Given the description of an element on the screen output the (x, y) to click on. 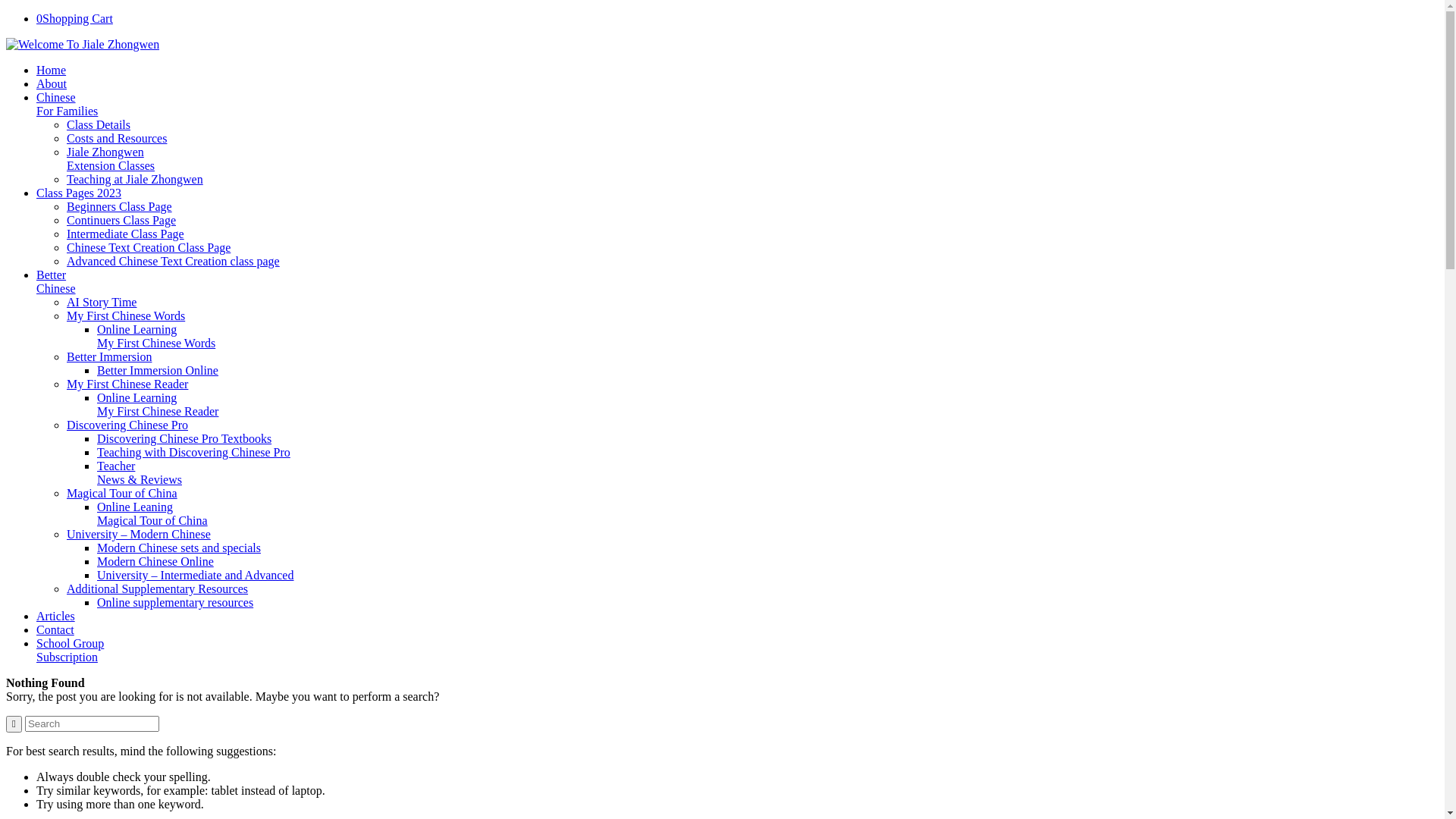
AI Story Time Element type: text (101, 301)
Modern Chinese sets and specials Element type: text (178, 547)
My First Chinese Reader Element type: text (127, 383)
Articles Element type: text (55, 615)
Contact Element type: text (55, 629)
Intermediate Class Page Element type: text (125, 233)
Modern Chinese Online Element type: text (155, 561)
Chinese
For Families Element type: text (66, 104)
Class Details Element type: text (98, 124)
Class Pages 2023 Element type: text (78, 192)
Discovering Chinese Pro Textbooks Element type: text (184, 438)
Additional Supplementary Resources Element type: text (156, 588)
Online supplementary resources Element type: text (175, 602)
Continuers Class Page Element type: text (120, 219)
Better Immersion Online Element type: text (157, 370)
Beginners Class Page Element type: text (119, 206)
Home Element type: text (50, 69)
Costs and Resources Element type: text (116, 137)
Online Learning
My First Chinese Words Element type: text (156, 336)
0Shopping Cart Element type: text (74, 18)
Chinese Text Creation Class Page Element type: text (148, 247)
Teaching at Jiale Zhongwen Element type: text (134, 178)
Advanced Chinese Text Creation class page Element type: text (172, 260)
Discovering Chinese Pro Element type: text (127, 424)
School Group
Subscription Element type: text (69, 650)
About Element type: text (51, 83)
Teaching with Discovering Chinese Pro Element type: text (193, 451)
Magical Tour of China Element type: text (121, 492)
Better Immersion Element type: text (108, 356)
Jiale Zhongwen
Extension Classes Element type: text (110, 158)
Online Learning
My First Chinese Reader Element type: text (157, 404)
Better
Chinese Element type: text (55, 281)
Teacher
News & Reviews Element type: text (139, 472)
Online Leaning
Magical Tour of China Element type: text (152, 513)
My First Chinese Words Element type: text (125, 315)
